Given the description of an element on the screen output the (x, y) to click on. 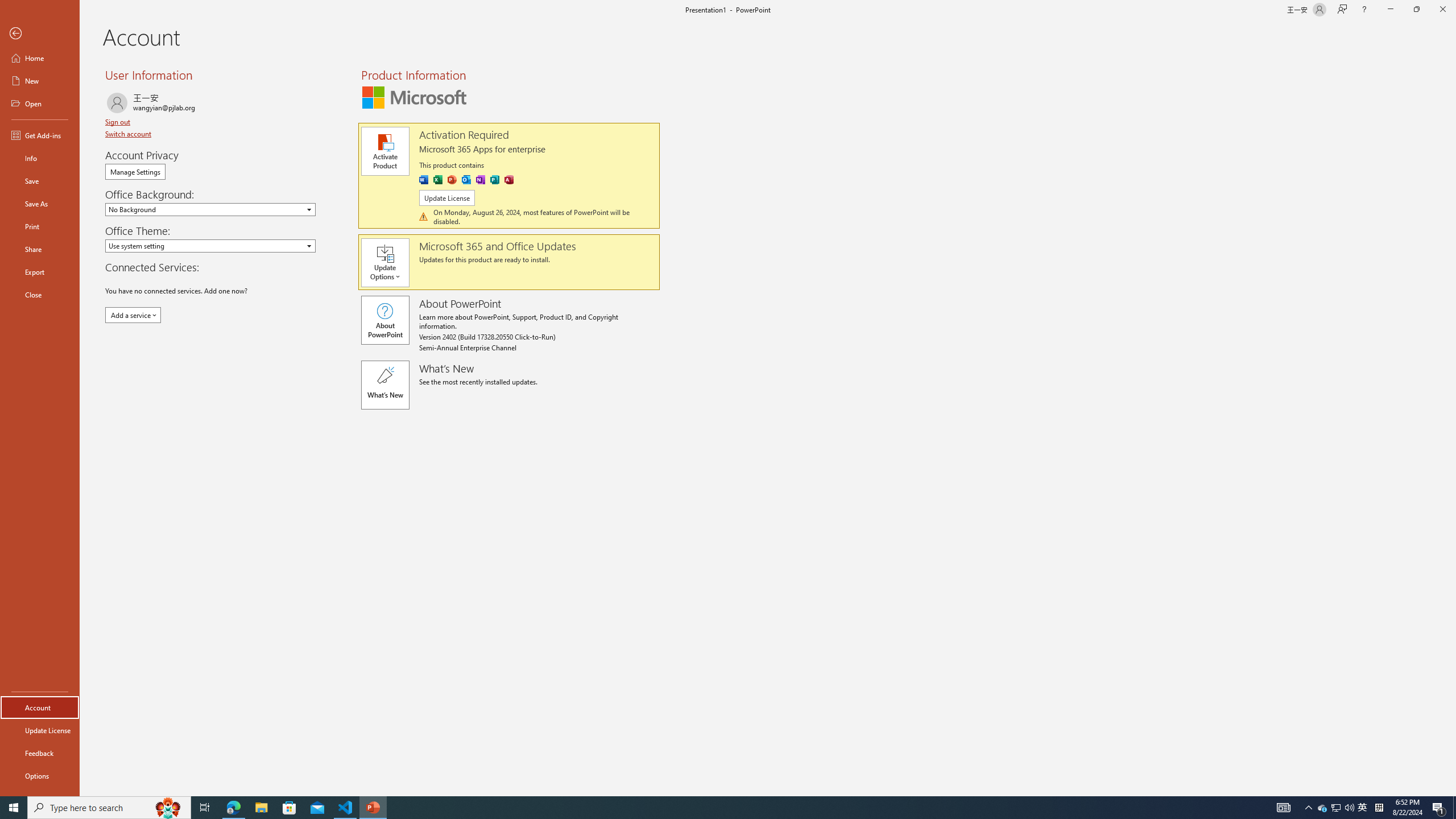
Update Options (390, 262)
Open (309, 245)
Account (40, 707)
Open (40, 102)
Update License (446, 197)
Access (508, 179)
Info (40, 157)
Publisher (494, 179)
OneNote (480, 179)
Office Theme (209, 245)
